Given the description of an element on the screen output the (x, y) to click on. 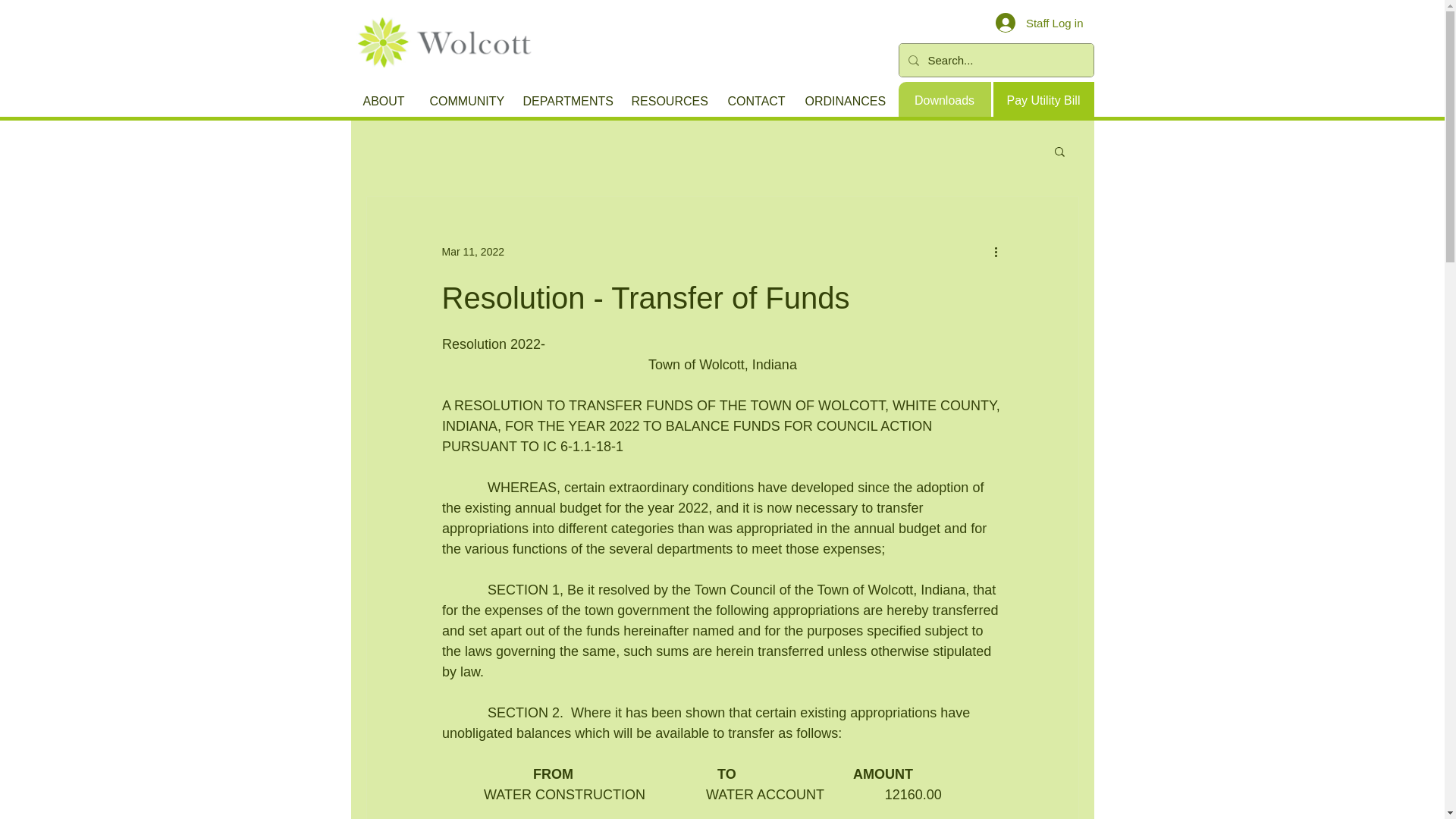
Wolcott Indiana town logo (446, 42)
ORDINANCES (842, 101)
Staff Log in (1039, 22)
RESOURCES (668, 101)
ABOUT (385, 101)
DEPARTMENTS (565, 101)
CONTACT (754, 101)
COMMUNITY (465, 101)
Downloads (944, 100)
Mar 11, 2022 (472, 251)
